Given the description of an element on the screen output the (x, y) to click on. 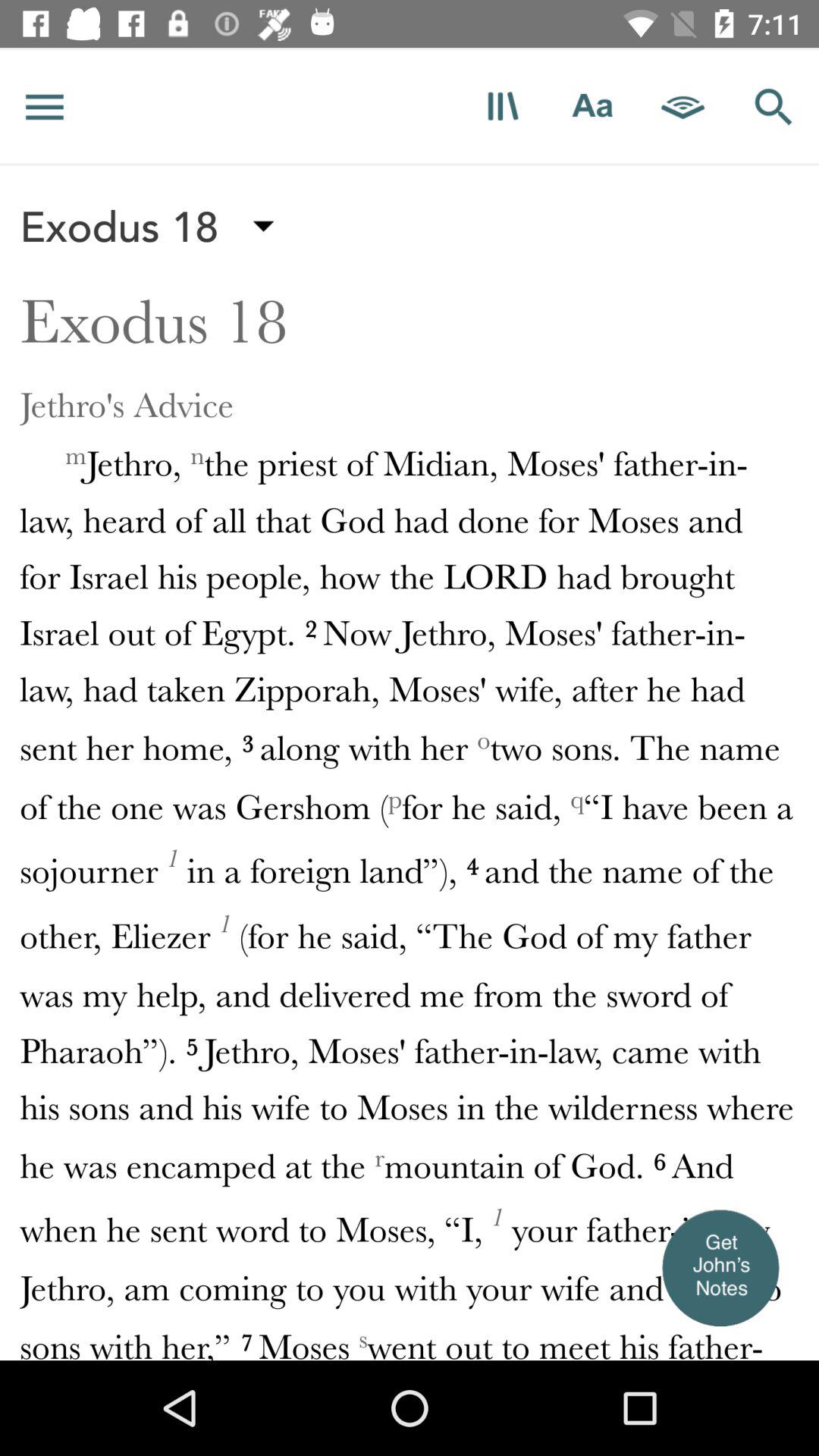
new search (773, 106)
